Given the description of an element on the screen output the (x, y) to click on. 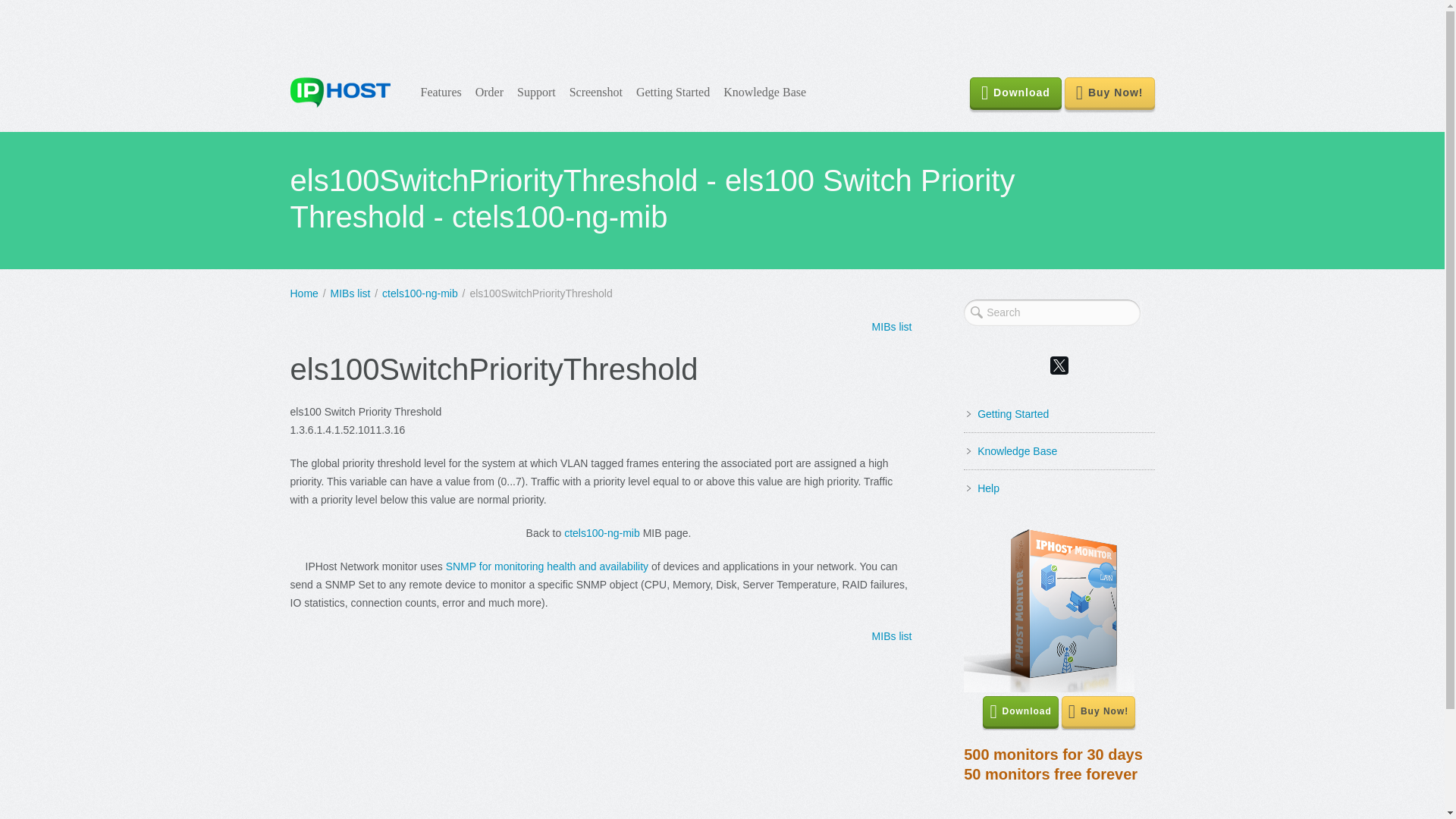
Order (489, 92)
Buy Now! (1109, 91)
Getting Started (672, 92)
ctels100-ng-mib (419, 293)
Help (987, 488)
Home (303, 293)
Twitter (1058, 365)
Knowledge Base (1052, 764)
Support (1016, 451)
Screenshot (536, 92)
Features (595, 92)
Knowledge Base (440, 92)
ctels100-ng-mib (764, 92)
Download (602, 532)
